Given the description of an element on the screen output the (x, y) to click on. 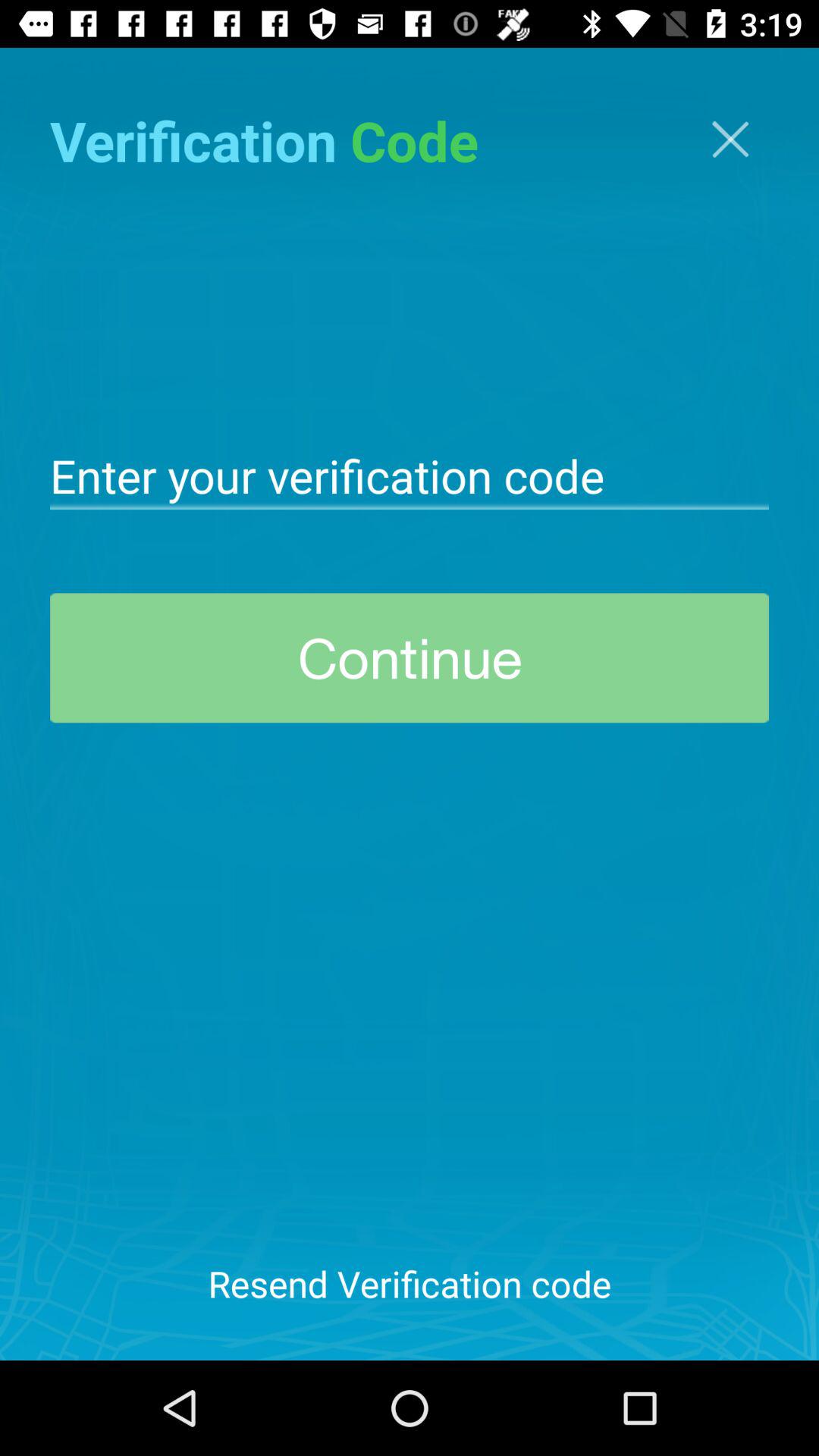
choose the item above resend verification code (409, 657)
